Given the description of an element on the screen output the (x, y) to click on. 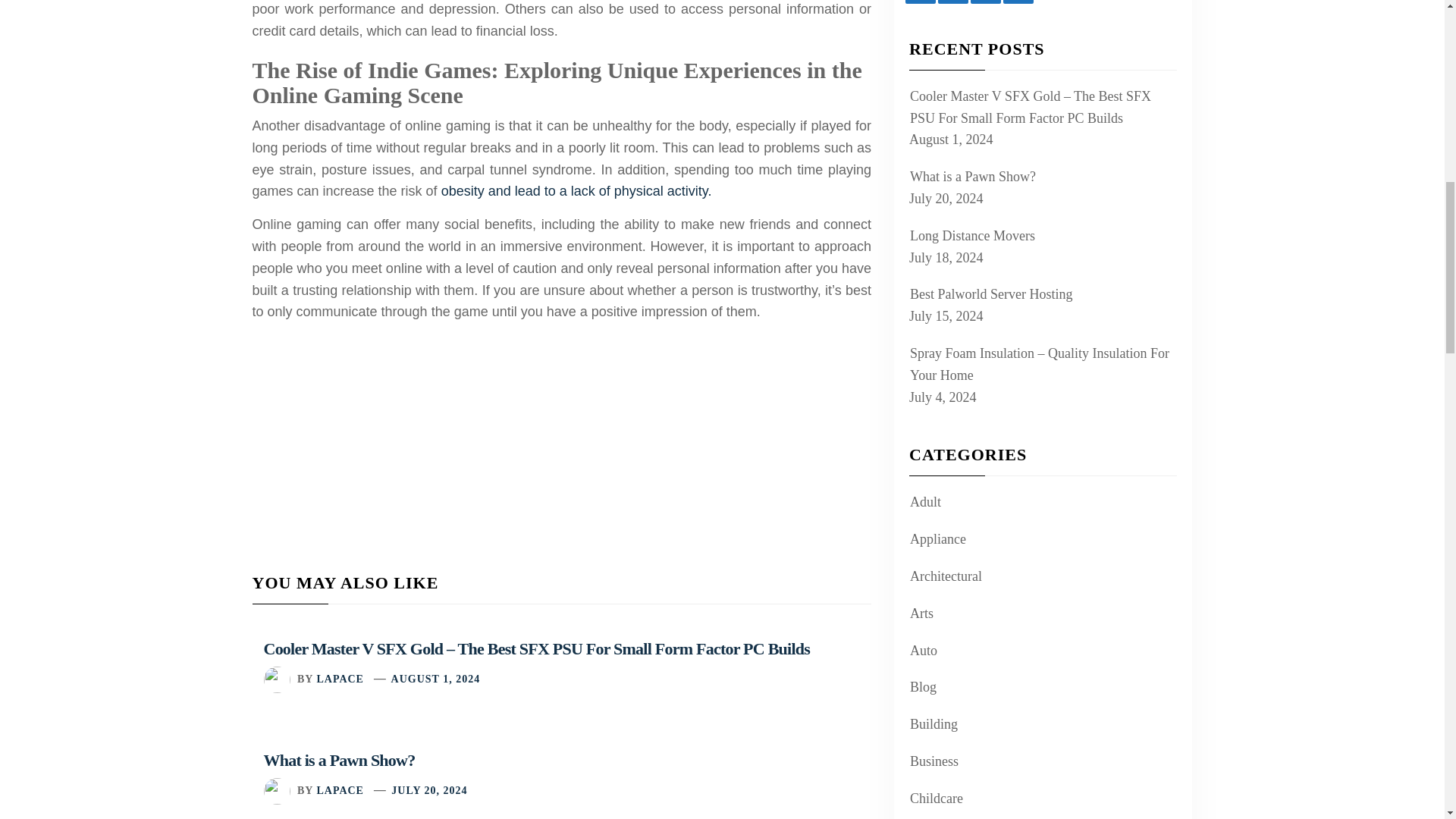
LAPACE (339, 790)
LAPACE (339, 678)
Twitter (1018, 2)
YouTube (952, 2)
AUGUST 1, 2024 (435, 678)
Instagram (986, 2)
JULY 20, 2024 (429, 790)
Facebook (920, 2)
obesity and lead to a lack of physical activity. (576, 191)
What is a Pawn Show? (338, 760)
